Given the description of an element on the screen output the (x, y) to click on. 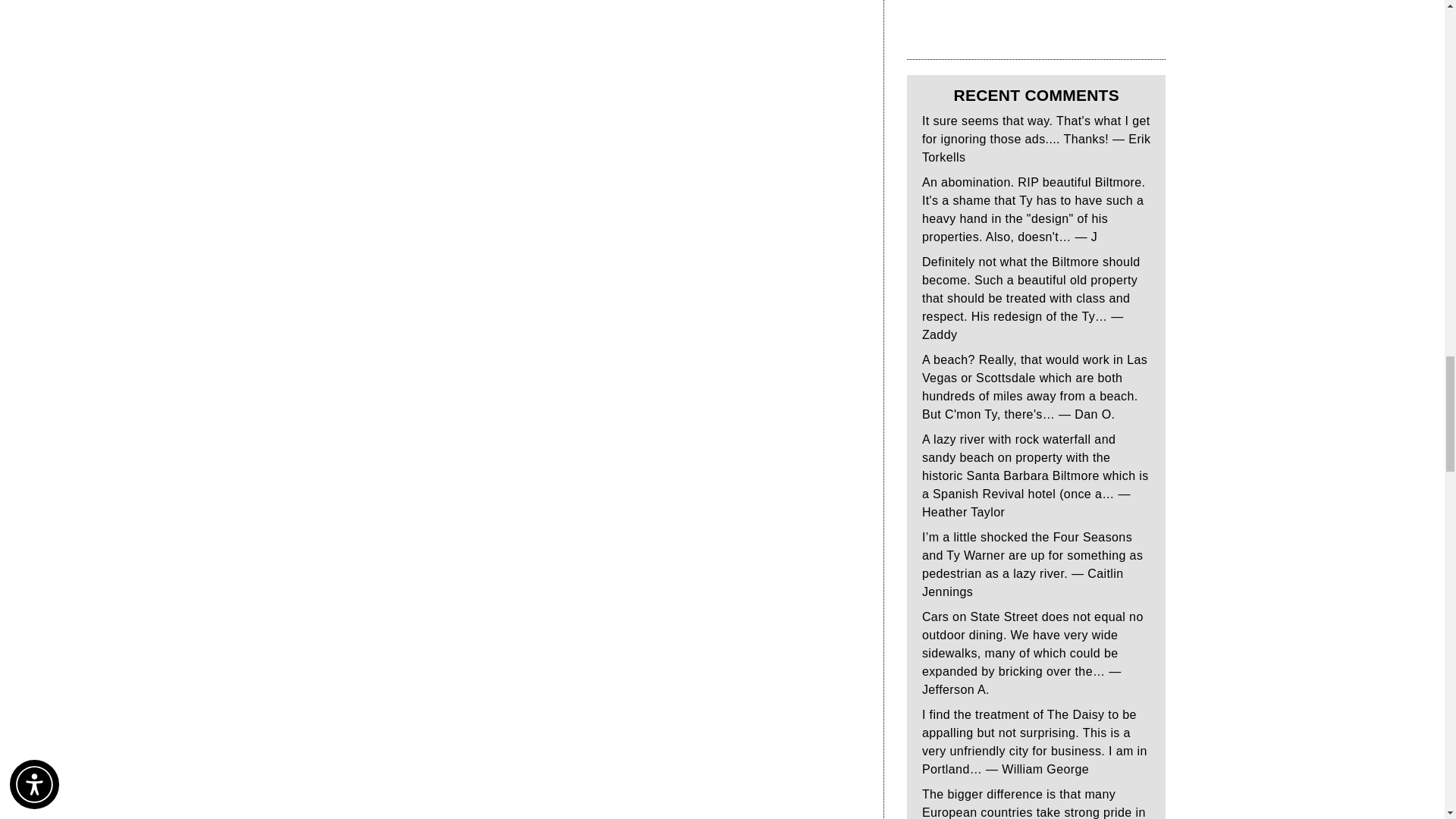
RECENT COMMENTS (1036, 95)
Montessori Center School (1020, 22)
